Given the description of an element on the screen output the (x, y) to click on. 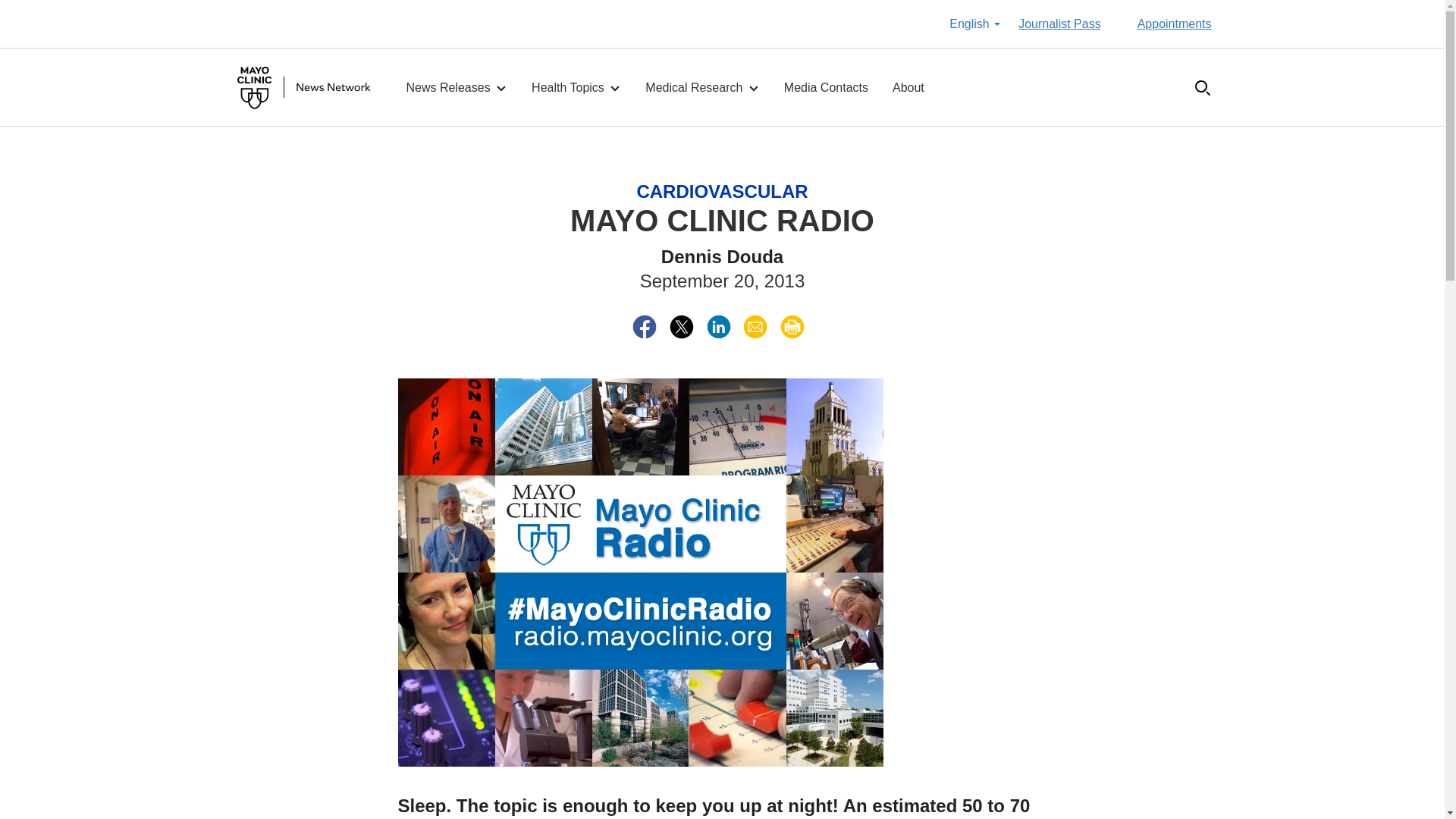
English (974, 23)
News Releases (457, 87)
Journalist Pass (1058, 23)
Health Topics (576, 87)
Journalist Pass (1058, 23)
Medical Research (702, 87)
English (974, 23)
Appointments (1174, 24)
Health Topics (576, 87)
News Releases (457, 87)
